Given the description of an element on the screen output the (x, y) to click on. 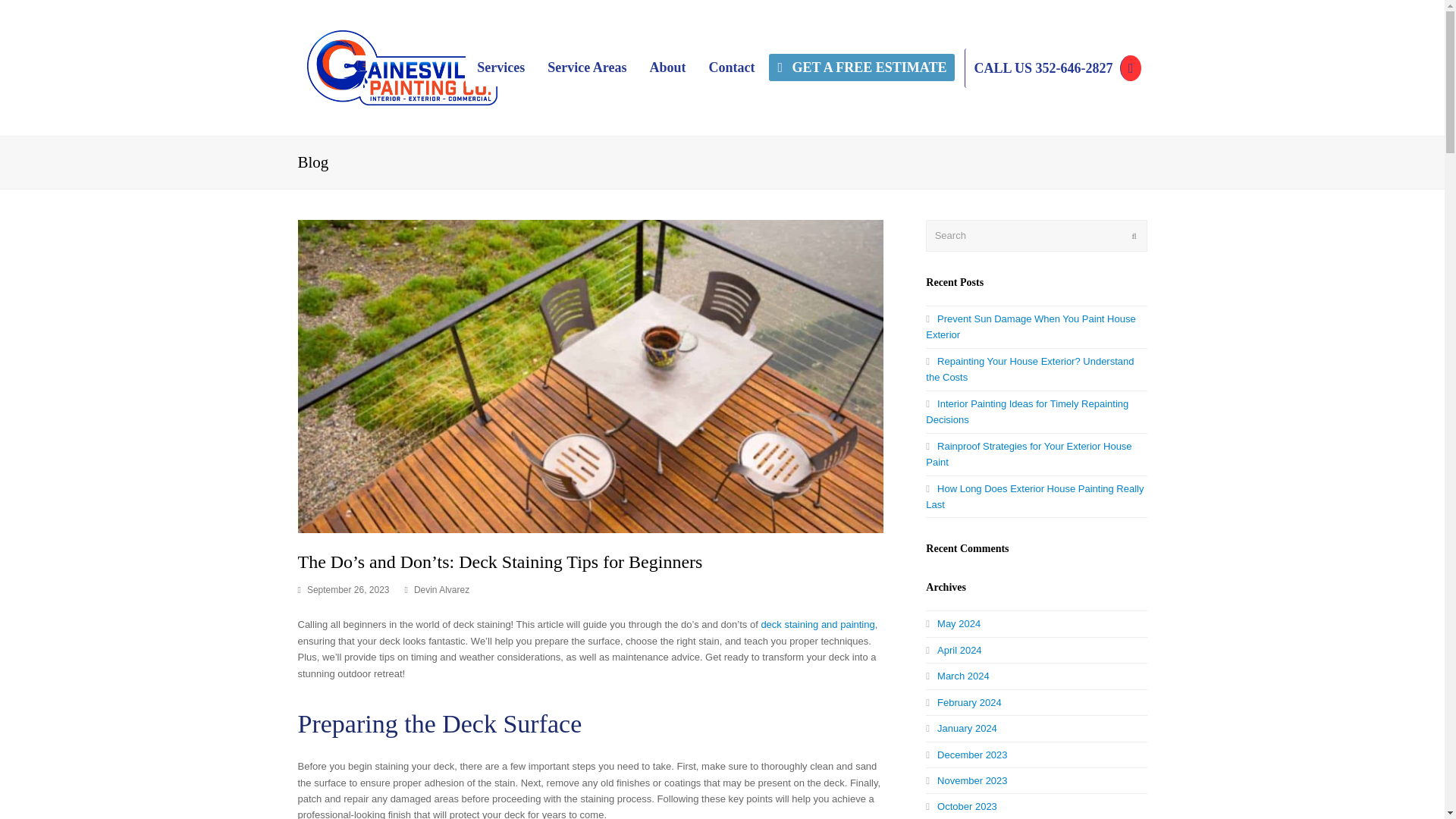
Service Areas (586, 67)
Services (500, 67)
Gainesville Painting Company (400, 66)
Posts by Devin Alvarez (440, 589)
